Given the description of an element on the screen output the (x, y) to click on. 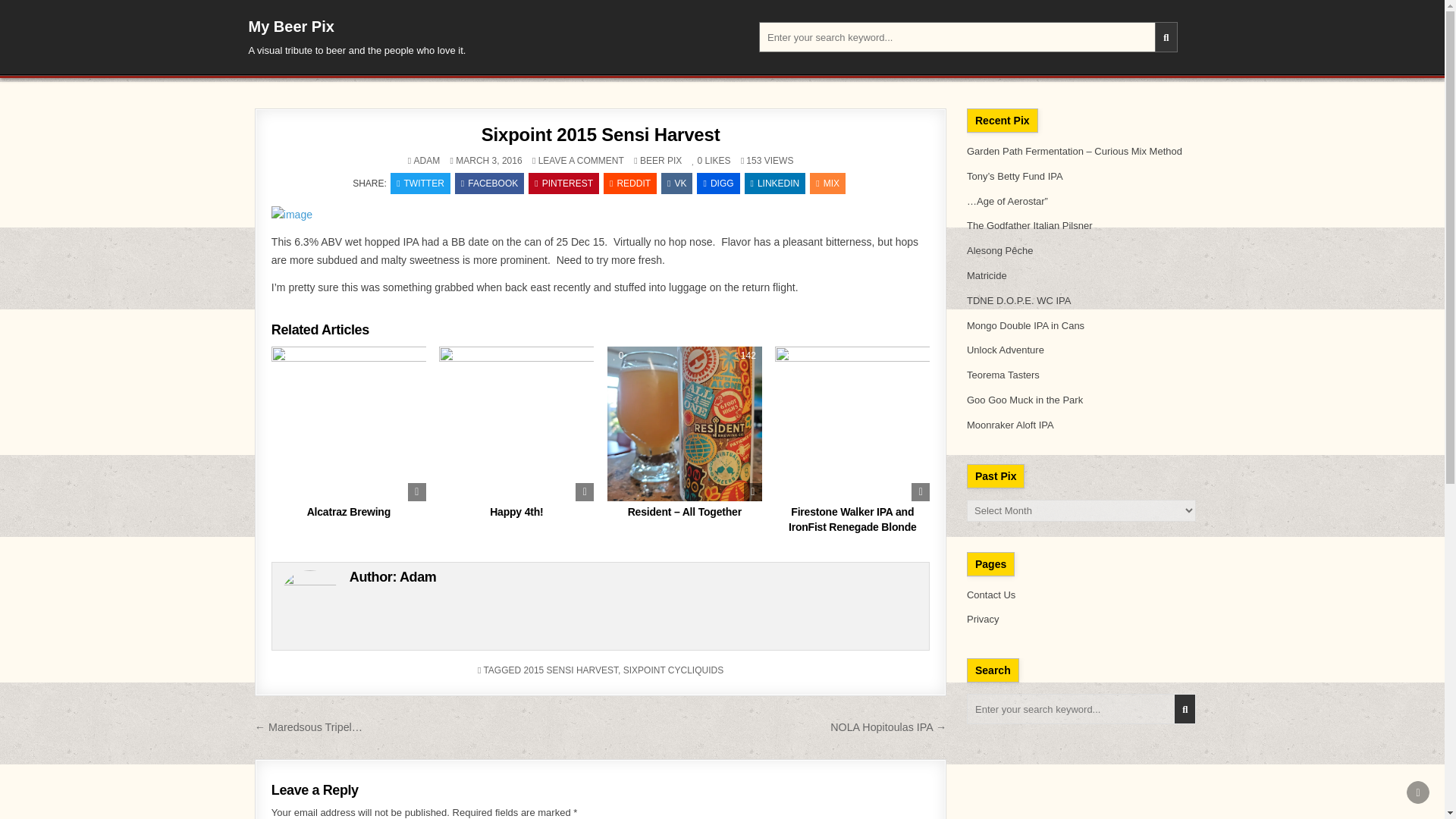
SCROLL TO TOP (1417, 792)
Share this on Facebook (489, 183)
0 (618, 355)
MIX (827, 183)
BEER PIX (660, 160)
Sixpoint 2015 Sensi Harvest (600, 134)
Share this on Linkedin (775, 183)
VK (677, 183)
Like this (698, 160)
Permanent Link to Alcatraz Brewing (348, 423)
Tweet This! (419, 183)
DIGG (718, 183)
Share this on Mix (827, 183)
TWITTER (419, 183)
LINKEDIN (775, 183)
